Given the description of an element on the screen output the (x, y) to click on. 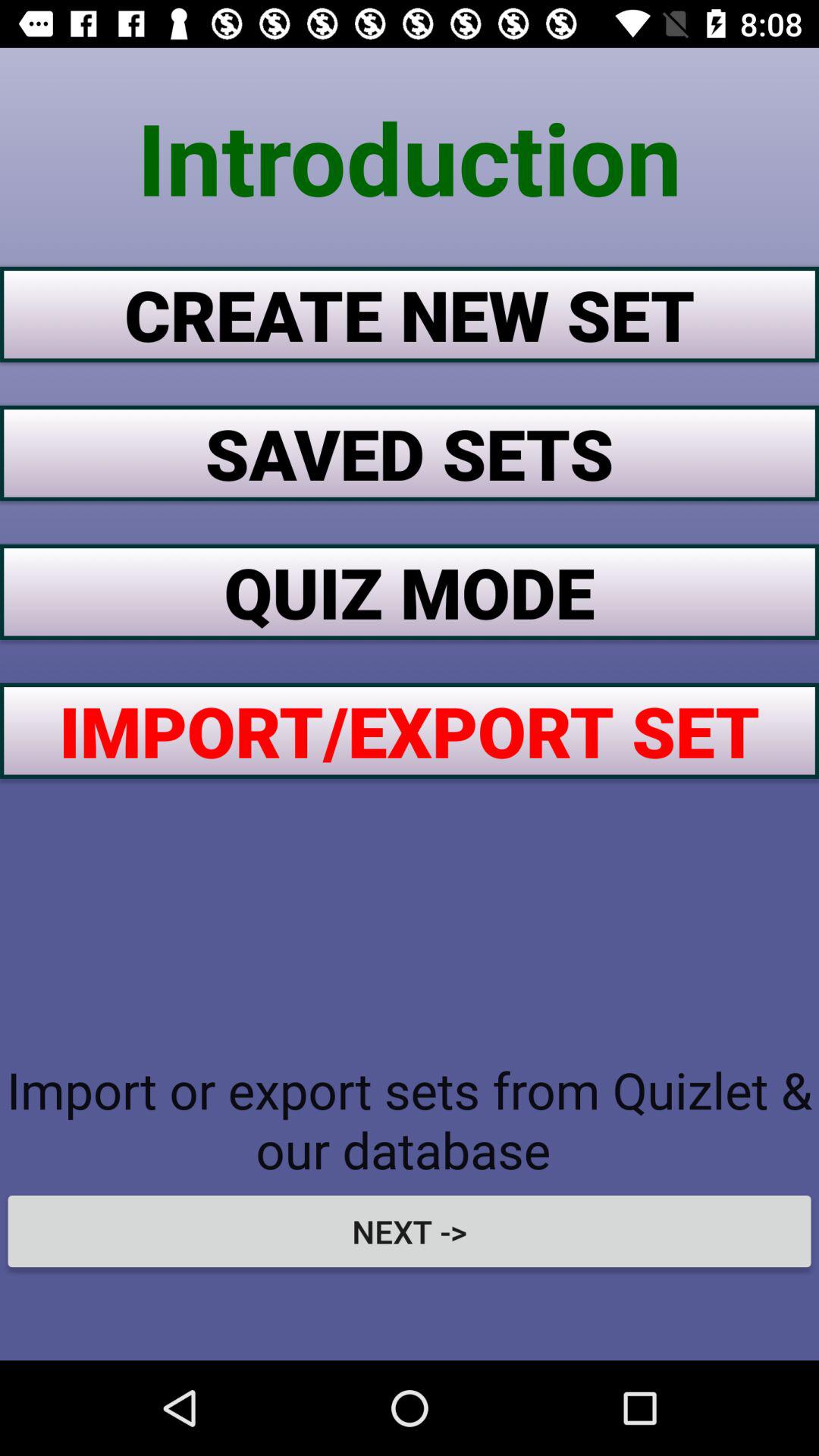
press item below introduction item (409, 314)
